Given the description of an element on the screen output the (x, y) to click on. 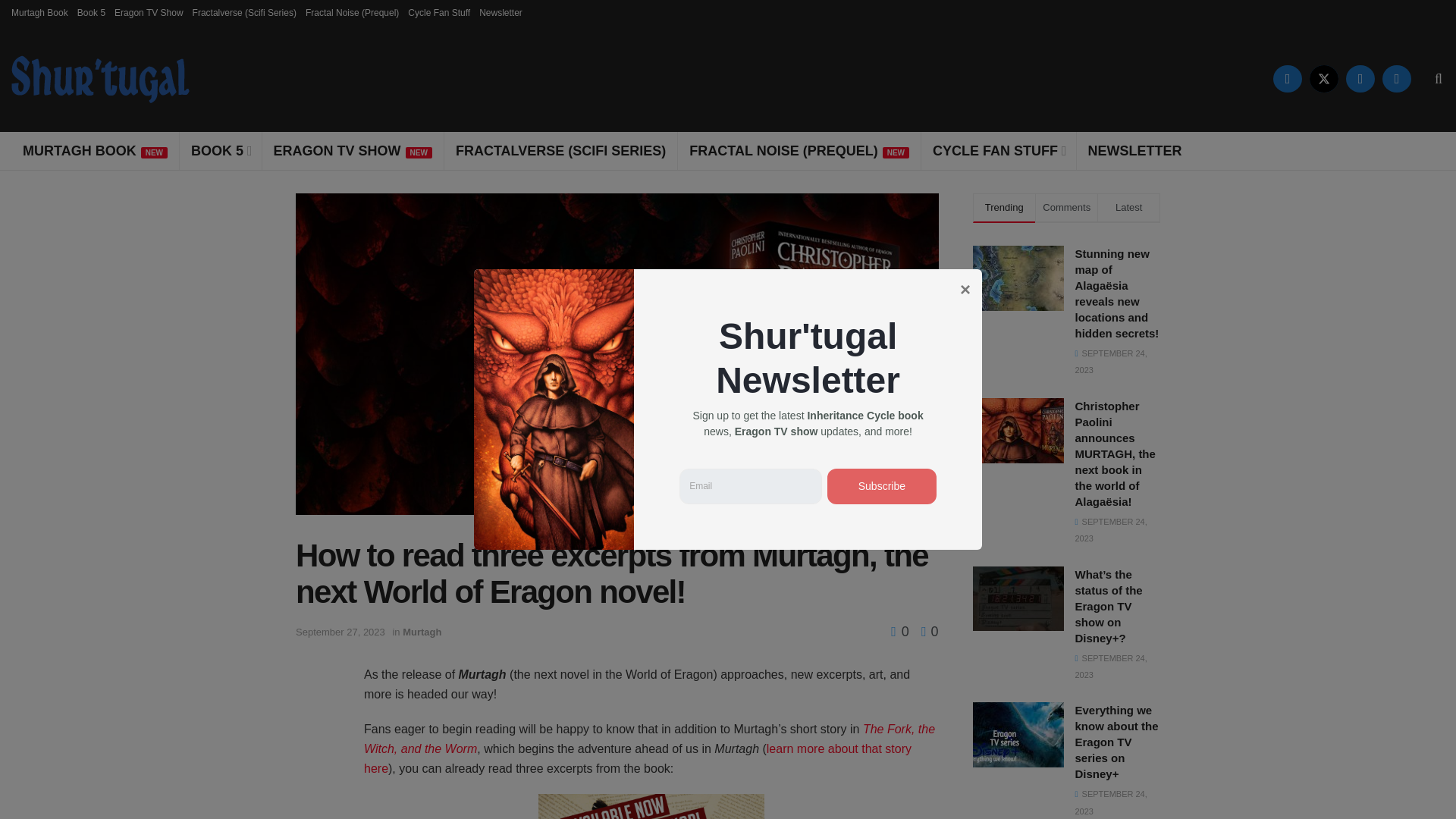
BOOK 5 (220, 150)
Murtagh Book (39, 12)
CYCLE FAN STUFF (997, 150)
MURTAGH BOOKNEW (94, 150)
Eragon TV Show (149, 12)
Book 5 (90, 12)
Cycle Fan Stuff (438, 12)
ERAGON TV SHOWNEW (352, 150)
Newsletter (500, 12)
